Given the description of an element on the screen output the (x, y) to click on. 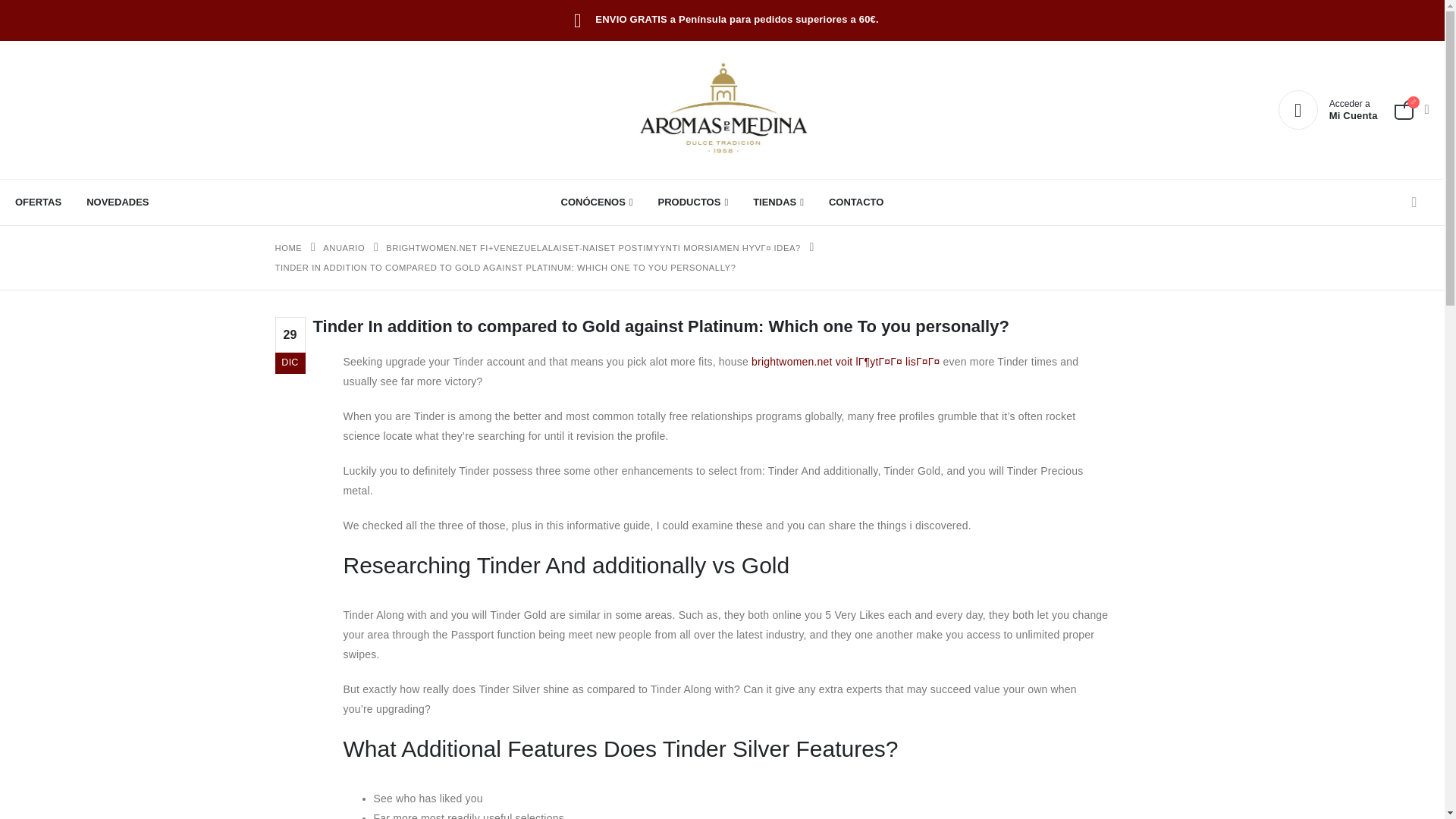
Aromas de Medina - Dulces de Obrador de Medina Sidonia (721, 109)
TIENDAS (778, 202)
NOVEDADES (117, 202)
ANUARIO (344, 247)
HOME (1327, 109)
PRODUCTOS (288, 247)
Go to Home Page (693, 202)
OFERTAS (288, 247)
CONTACTO (44, 202)
